Given the description of an element on the screen output the (x, y) to click on. 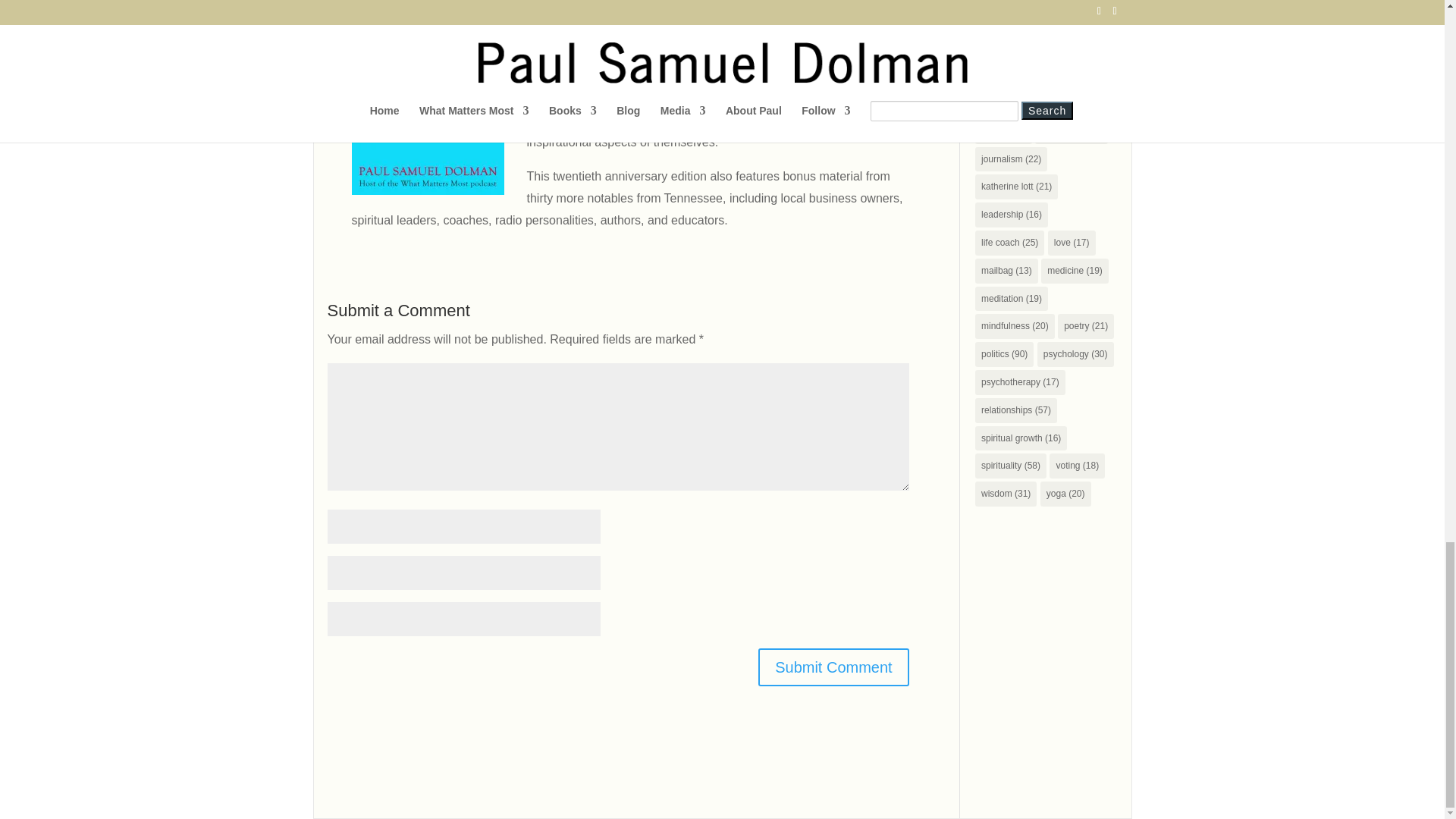
Submit Comment (833, 667)
